Given the description of an element on the screen output the (x, y) to click on. 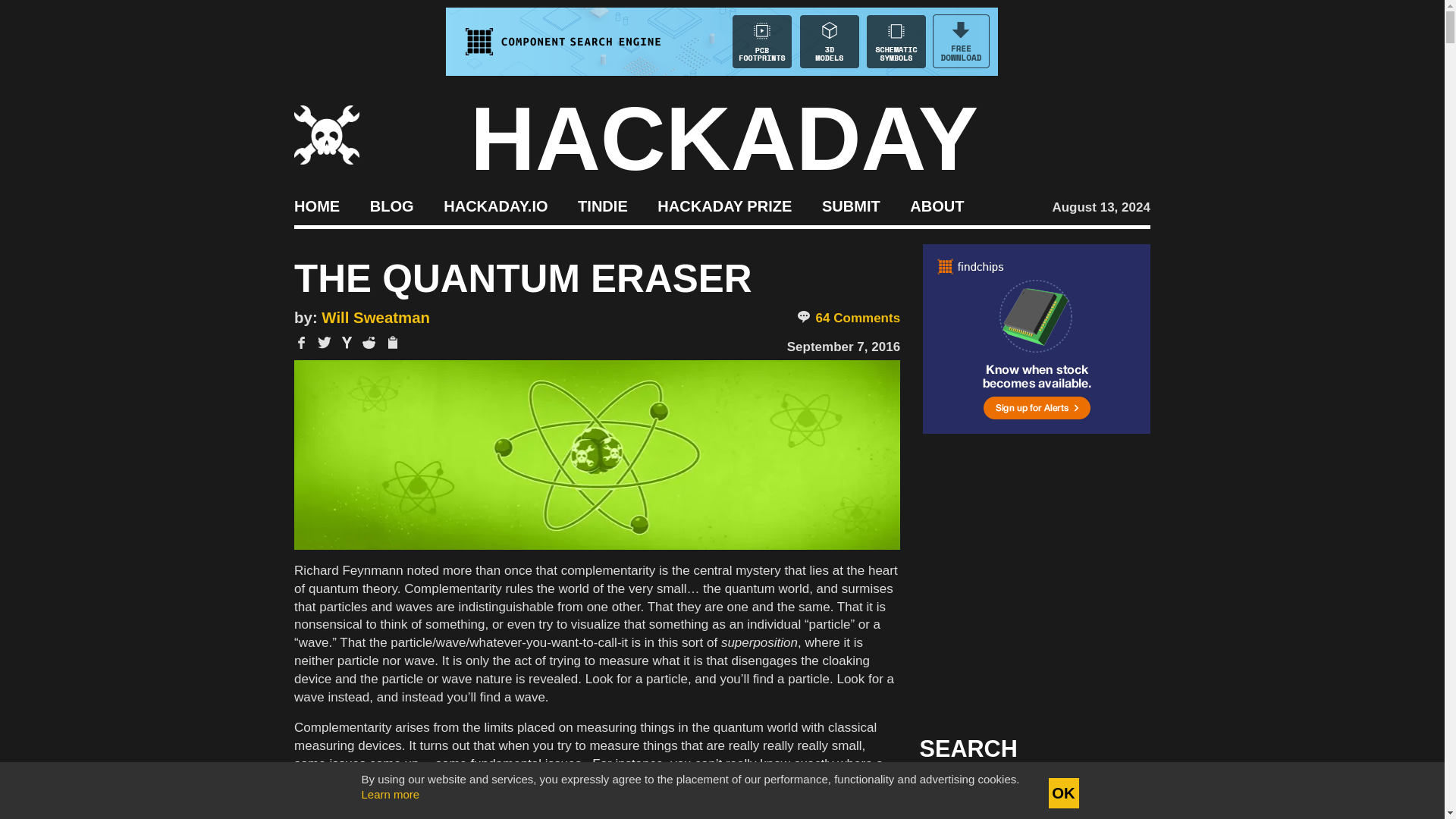
Search (1115, 792)
Share on Hacker News (347, 342)
ABOUT (936, 205)
September 7, 2016 (843, 346)
HACKADAY PRIZE (725, 205)
HOME (316, 205)
Search (1115, 792)
uncertainty in measurement (811, 800)
Will Sweatman (375, 317)
TINDIE (602, 205)
